Given the description of an element on the screen output the (x, y) to click on. 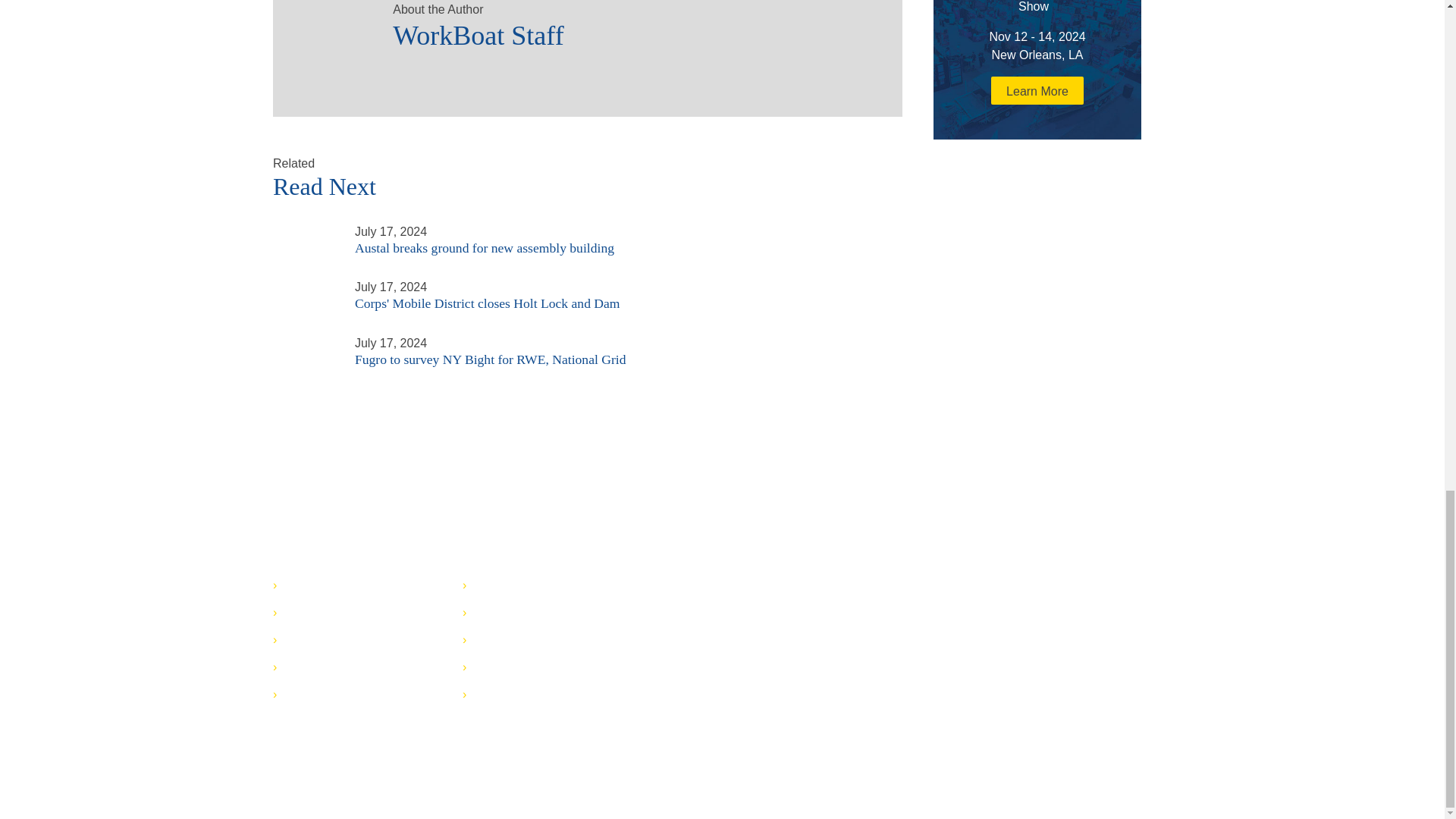
Corps' Mobile District closes Holt Lock and Dam (304, 285)
Fugro to survey NY Bight for RWE, National Grid (304, 356)
Austal breaks ground for new assembly building (304, 229)
WorkBoat Staff (325, 26)
WorkBoat Staff (631, 30)
